Given the description of an element on the screen output the (x, y) to click on. 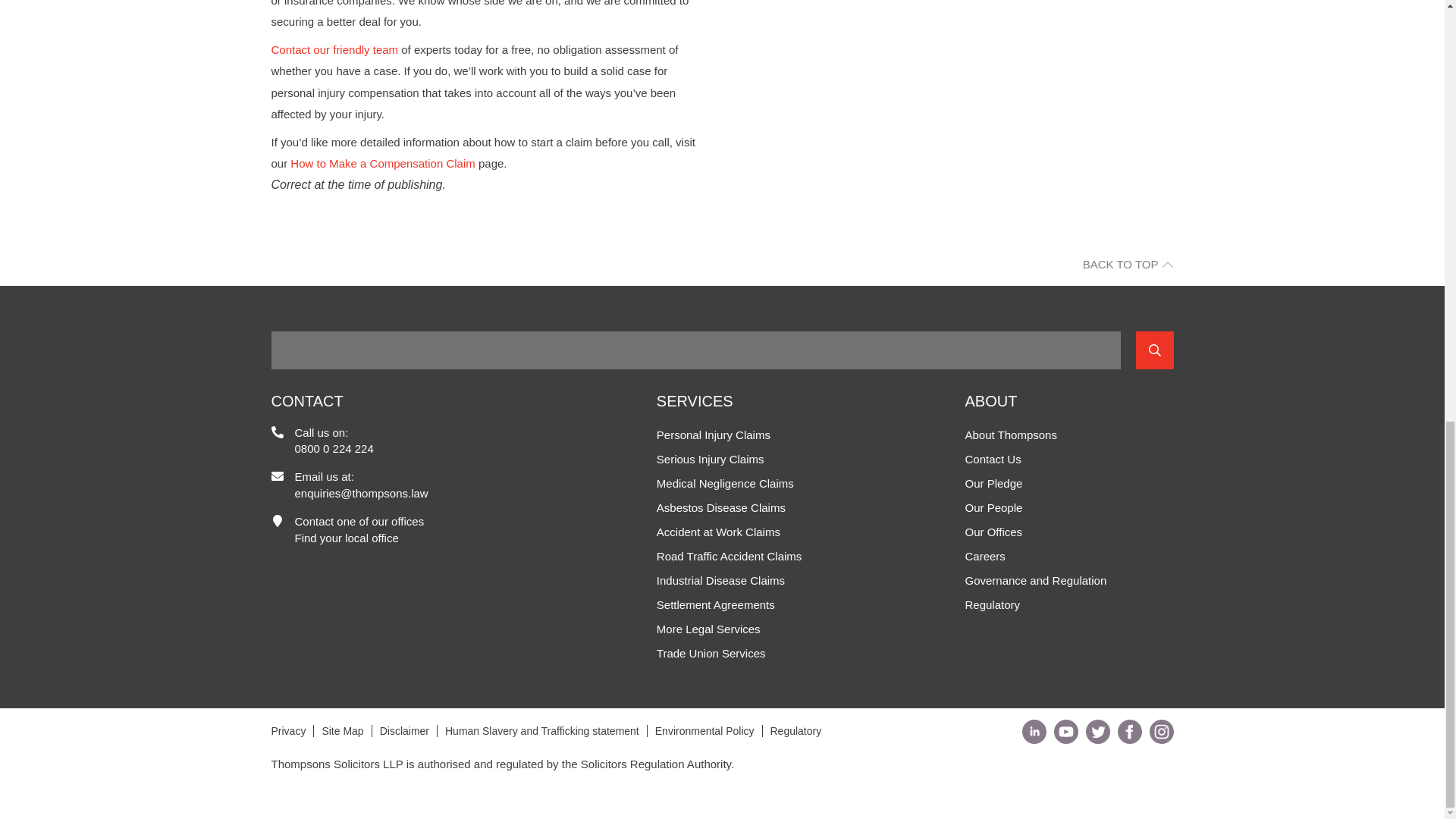
How To Make A Claim (381, 163)
Contact Us (334, 49)
